Given the description of an element on the screen output the (x, y) to click on. 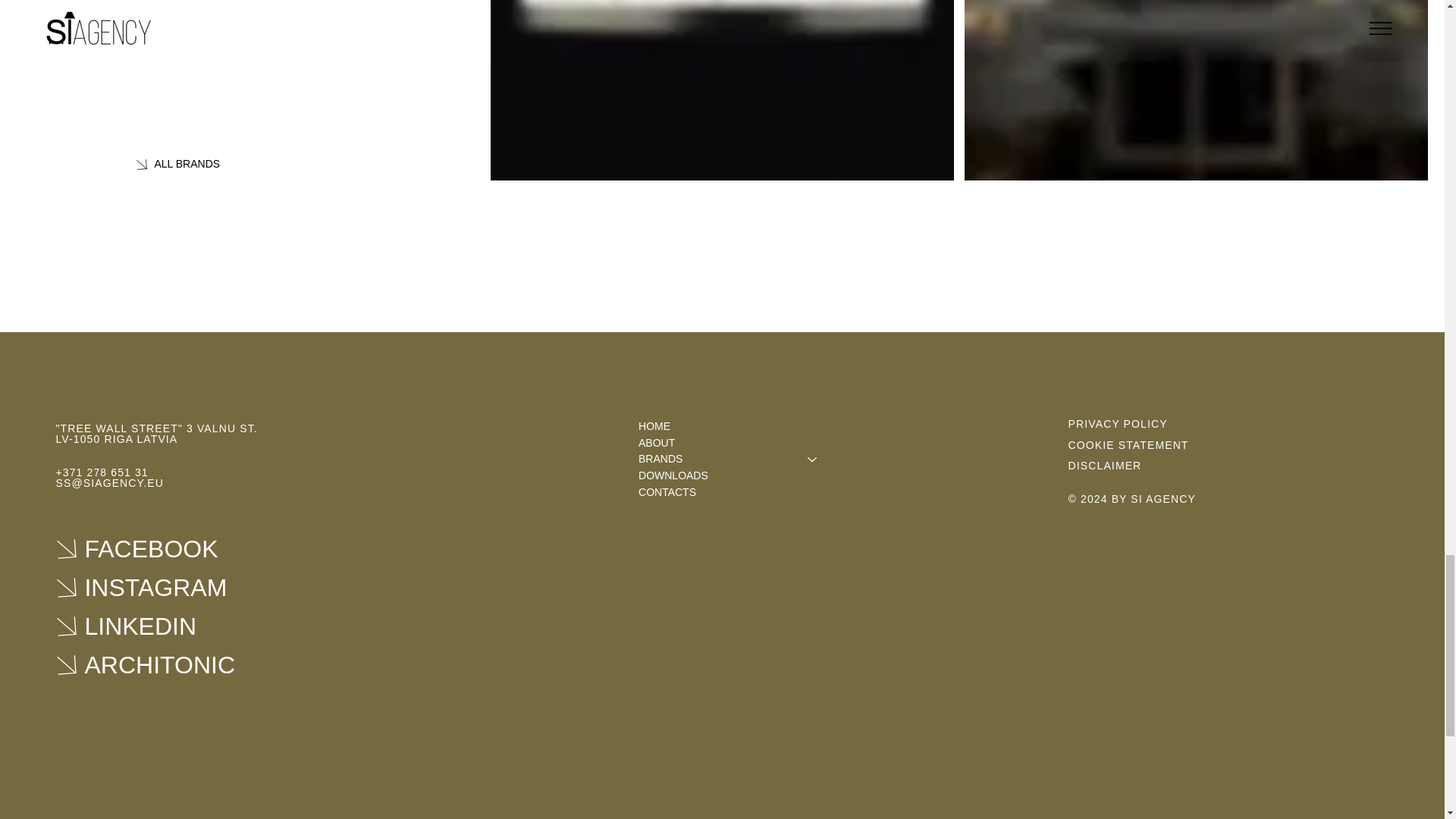
ABOUT (735, 443)
CONTACTS (735, 492)
PRIVACY POLICY (1117, 423)
COOKIE STATEMENT (1128, 444)
INSTAGRAM (167, 587)
BRANDS (716, 459)
DOWNLOADS (735, 475)
DISCLAIMER (1104, 465)
FACEBOOK (167, 549)
HOME (735, 426)
ARCHITONIC (167, 664)
ALL BRANDS (247, 164)
LINKEDIN (167, 626)
